Given the description of an element on the screen output the (x, y) to click on. 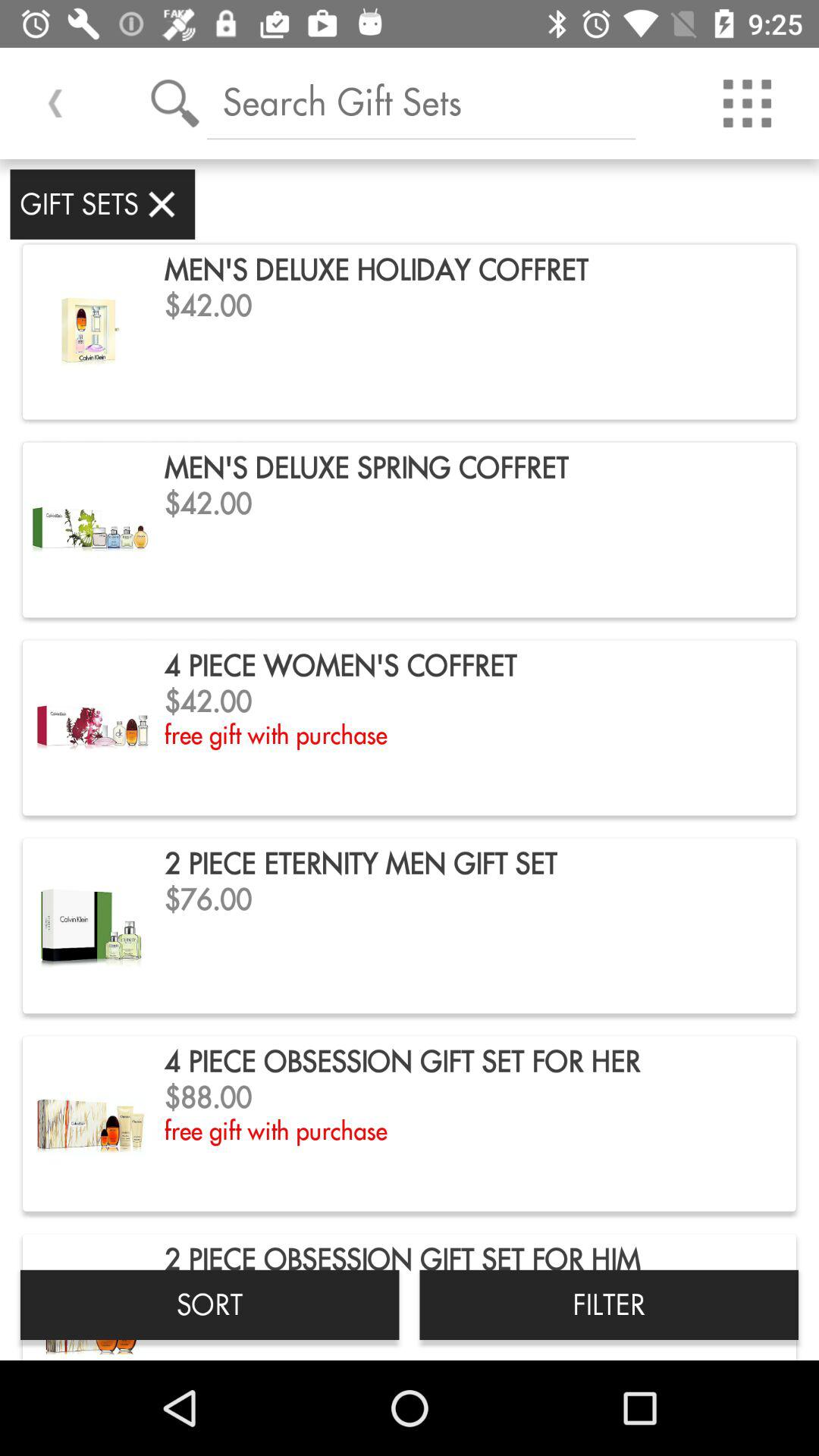
scroll to filter (608, 1304)
